Given the description of an element on the screen output the (x, y) to click on. 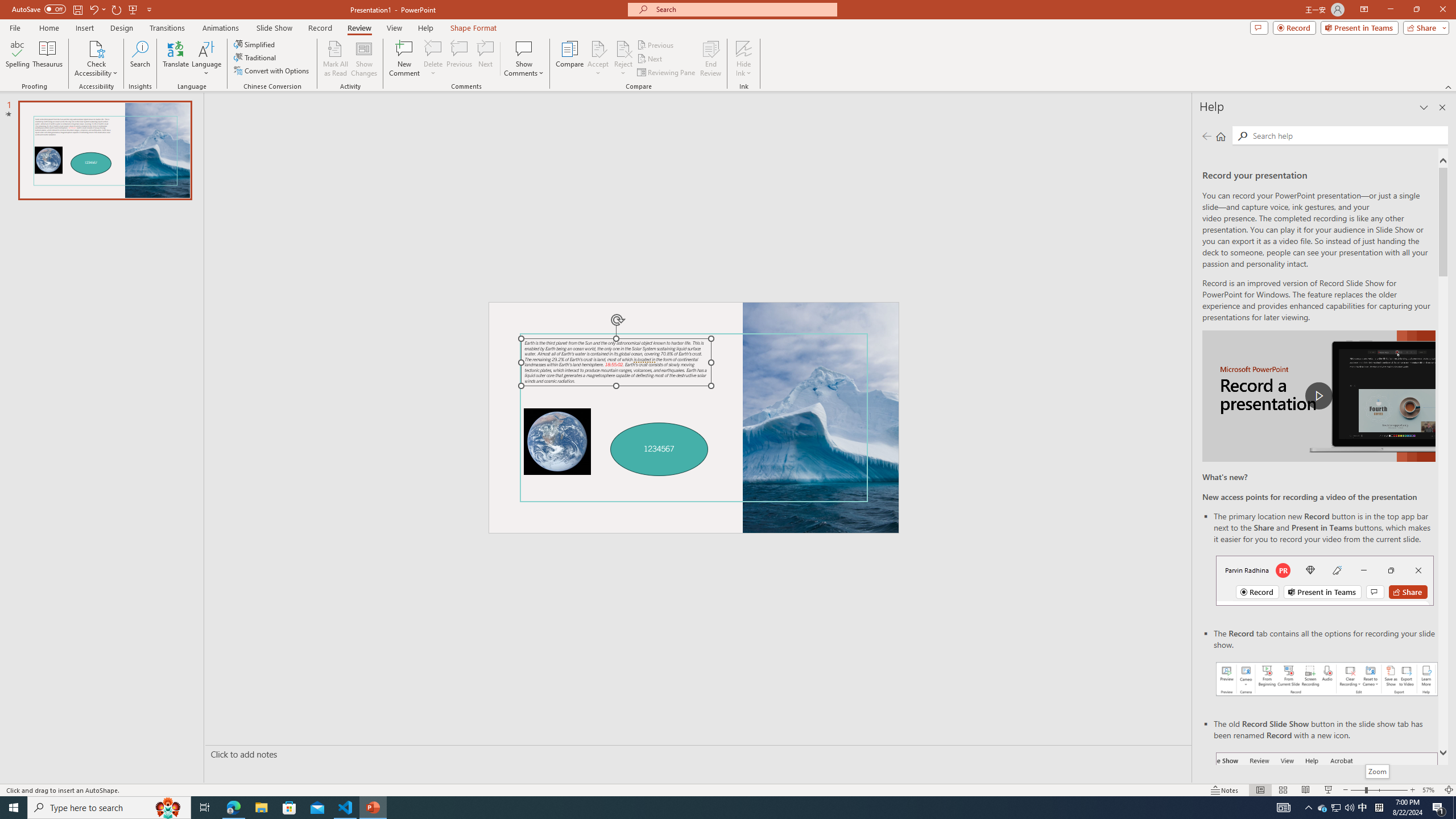
Hide Ink (743, 48)
Previous (655, 44)
Reject Change (622, 48)
Show Comments (524, 58)
Show Comments (524, 48)
Zoom 57% (1430, 790)
